Given the description of an element on the screen output the (x, y) to click on. 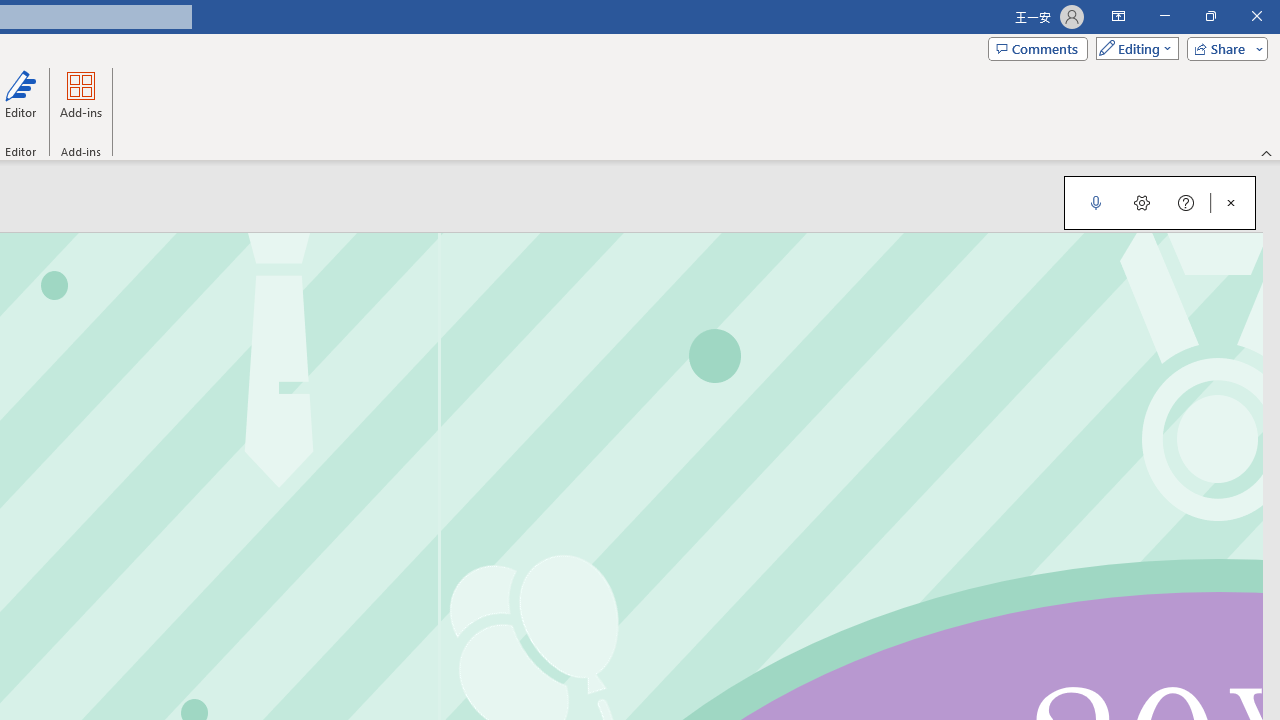
Mode (1133, 47)
Restore Down (1210, 16)
Share (1223, 48)
Close (1256, 16)
Dictation Settings (1142, 202)
Minimize (1164, 16)
Comments (1038, 48)
Start Dictation (1096, 202)
Ribbon Display Options (1118, 16)
Collapse the Ribbon (1267, 152)
Editor (21, 102)
